Given the description of an element on the screen output the (x, y) to click on. 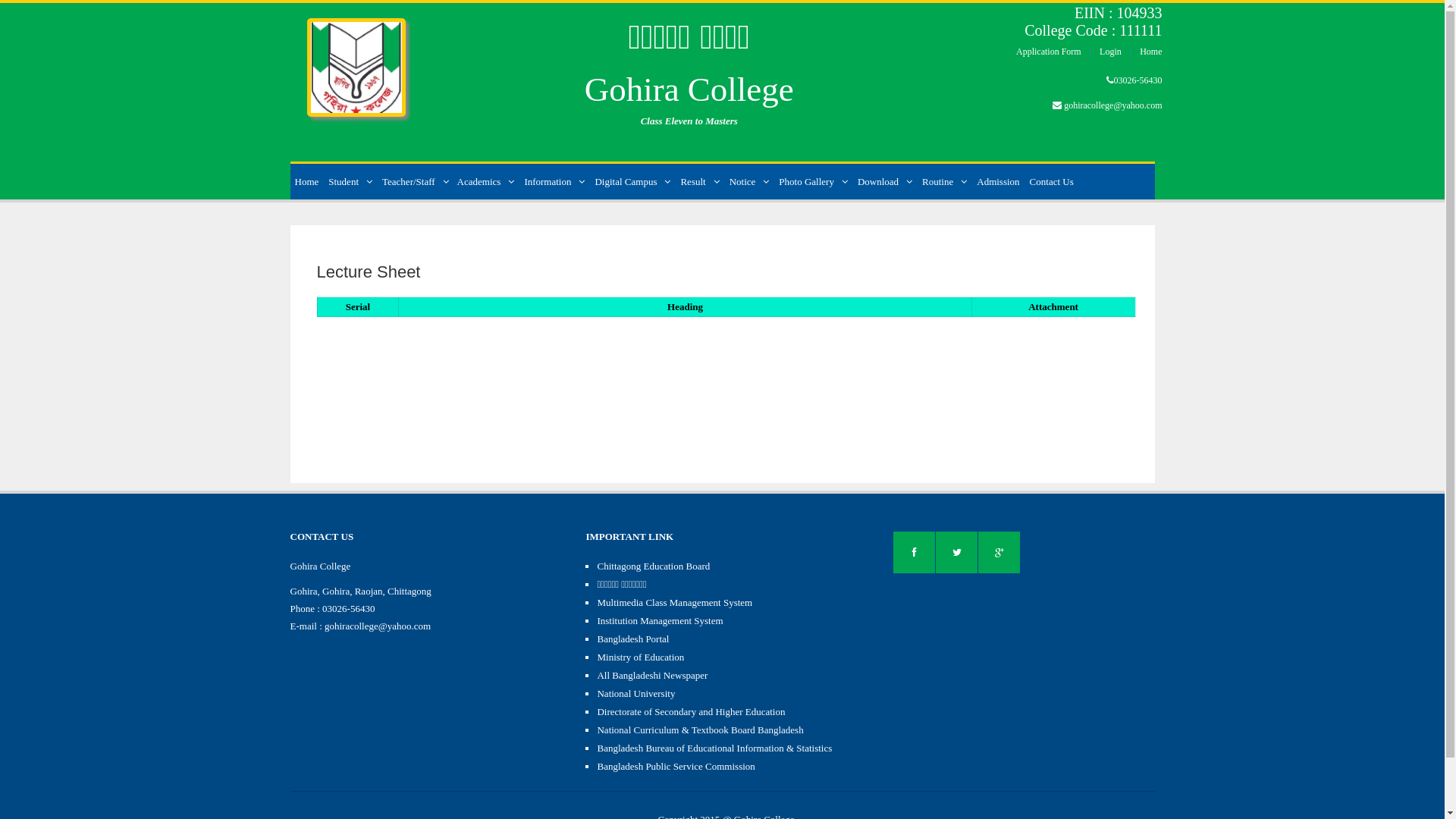
Institution Management System Element type: text (659, 620)
Result Element type: text (699, 181)
Academics Element type: text (485, 181)
Directorate of Secondary and Higher Education Element type: text (690, 711)
gohiracollege@yahoo.com Element type: text (1112, 105)
National Curriculum & Textbook Board Bangladesh Element type: text (699, 729)
Login Element type: text (1110, 51)
Bangladesh Public Service Commission Element type: text (675, 765)
Download Element type: text (884, 181)
Bangladesh Bureau of Educational Information & Statistics Element type: text (713, 747)
gohiracollege@yahoo.com Element type: text (377, 625)
Notice Element type: text (749, 181)
Contact Us Element type: text (1051, 181)
Routine Element type: text (944, 181)
Photo Gallery Element type: text (813, 181)
Student Element type: text (349, 181)
Multimedia Class Management System Element type: text (674, 602)
Application Form Element type: text (1048, 51)
All Bangladeshi Newspaper Element type: text (651, 674)
Admission Element type: text (997, 181)
Chittagong Education Board Element type: text (652, 565)
Home Element type: hover (356, 58)
Information Element type: text (554, 181)
Teacher/Staff Element type: text (415, 181)
Bangladesh Portal Element type: text (632, 638)
Digital Campus Element type: text (631, 181)
Home Element type: text (1150, 51)
National University Element type: text (635, 693)
Home Element type: text (306, 181)
Ministry of Education Element type: text (640, 656)
